Given the description of an element on the screen output the (x, y) to click on. 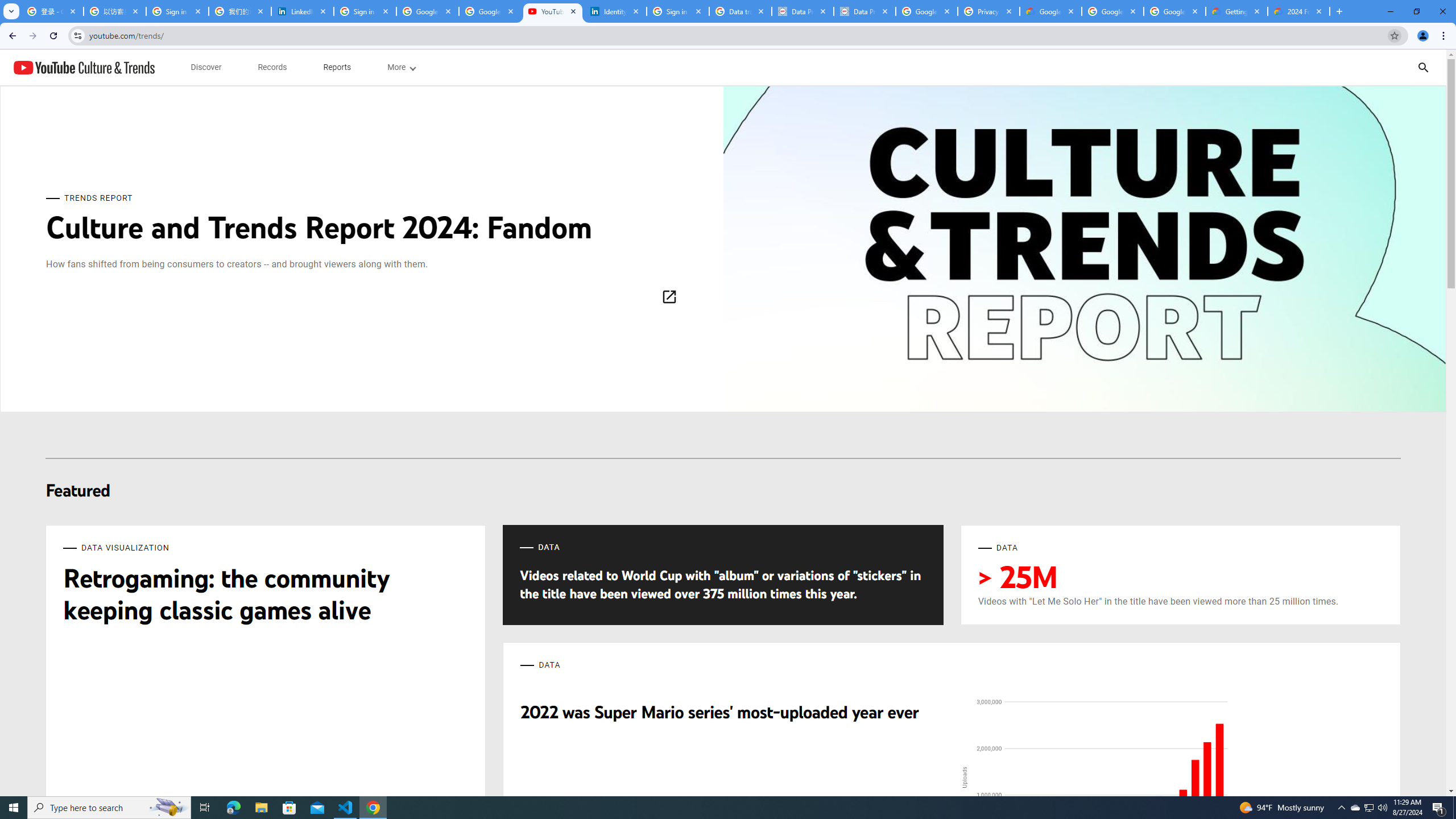
subnav-Records menupopup (271, 67)
JUMP TO CONTENT (118, 67)
Sign in - Google Accounts (177, 11)
Google Workspace - Specific Terms (1111, 11)
Google Cloud Terms Directory | Google Cloud (1050, 11)
Sign in - Google Accounts (678, 11)
